Given the description of an element on the screen output the (x, y) to click on. 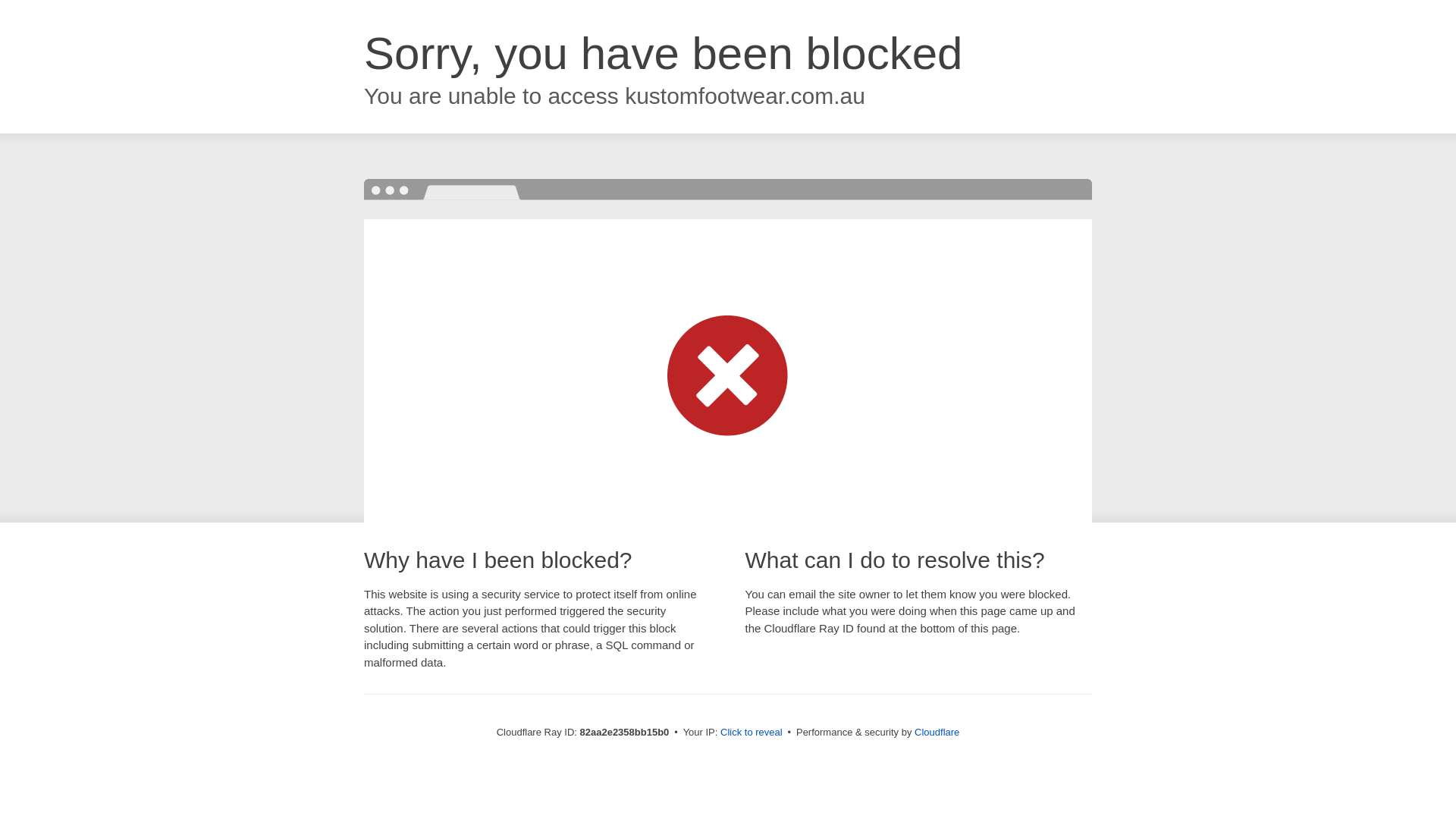
Click to reveal Element type: text (751, 732)
Cloudflare Element type: text (936, 731)
